Given the description of an element on the screen output the (x, y) to click on. 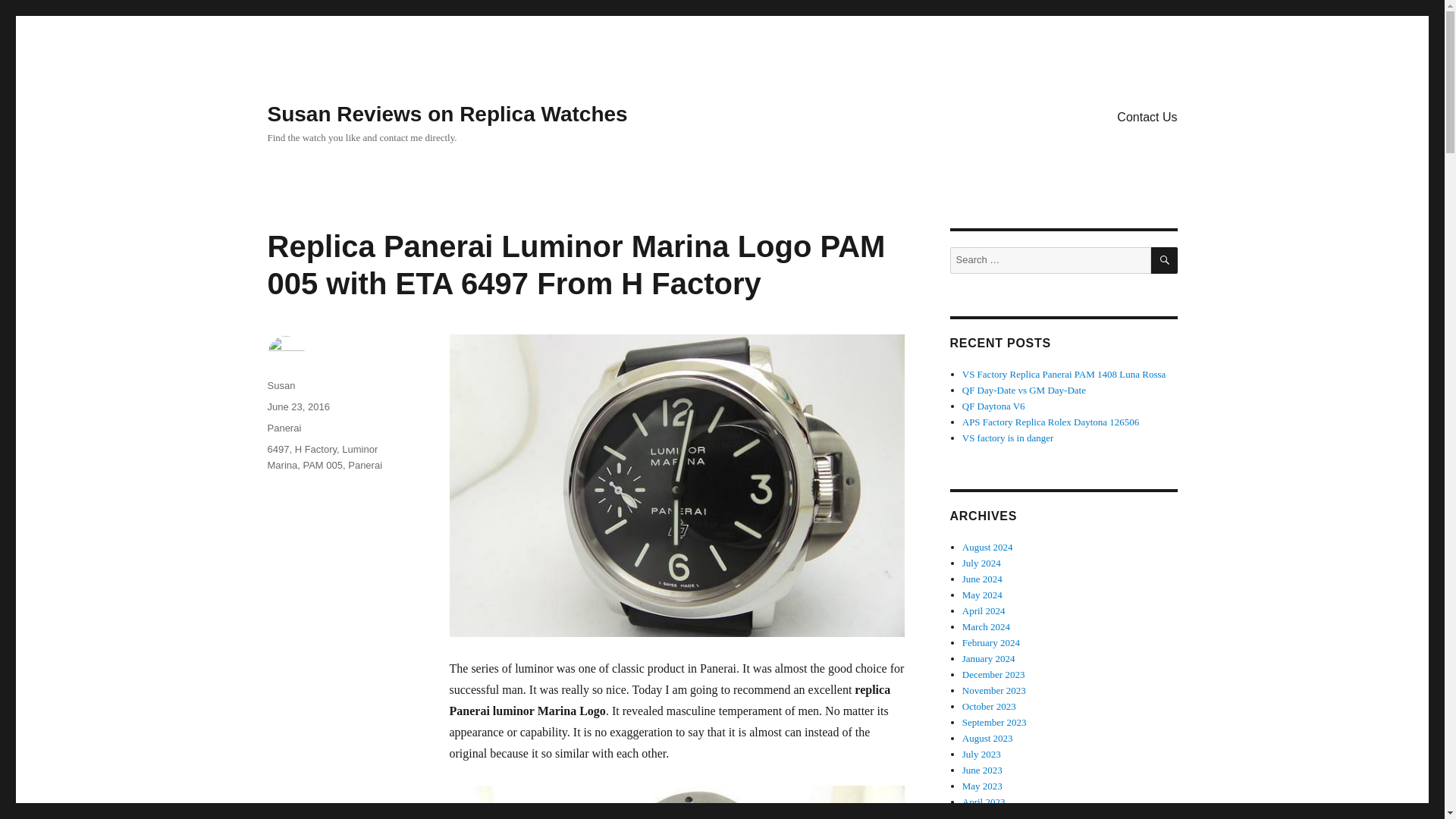
Luminor Marina (321, 456)
August 2024 (987, 546)
February 2024 (991, 642)
March 2024 (986, 626)
May 2024 (982, 594)
August 2023 (987, 737)
QF Day-Date vs GM Day-Date (1024, 389)
October 2023 (989, 706)
Contact Us (1147, 116)
VS Factory Replica Panerai PAM 1408 Luna Rossa (1064, 374)
